Given the description of an element on the screen output the (x, y) to click on. 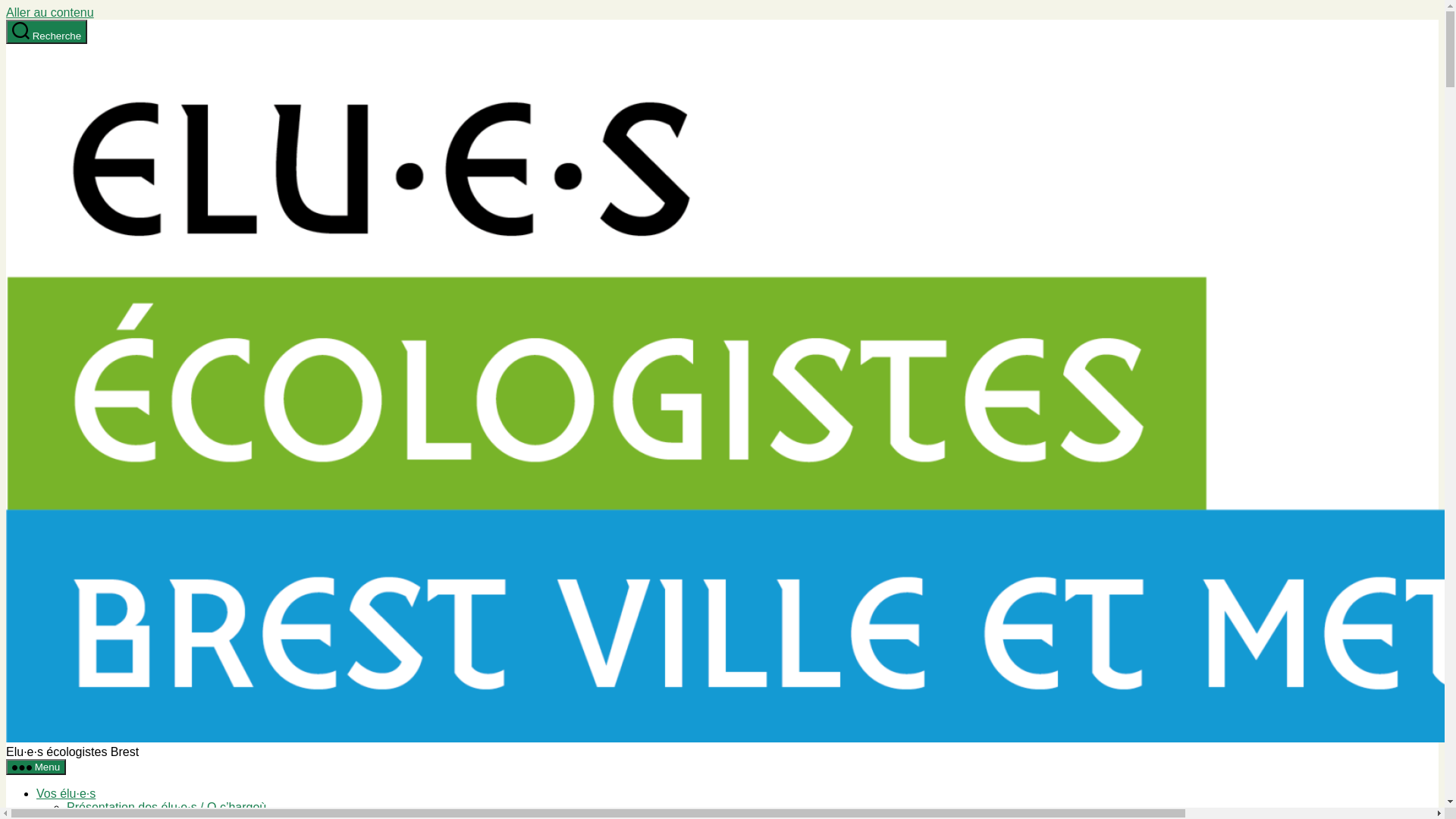
Aller au contenu Element type: text (50, 12)
Recherche Element type: text (46, 31)
Menu Element type: text (35, 767)
